Given the description of an element on the screen output the (x, y) to click on. 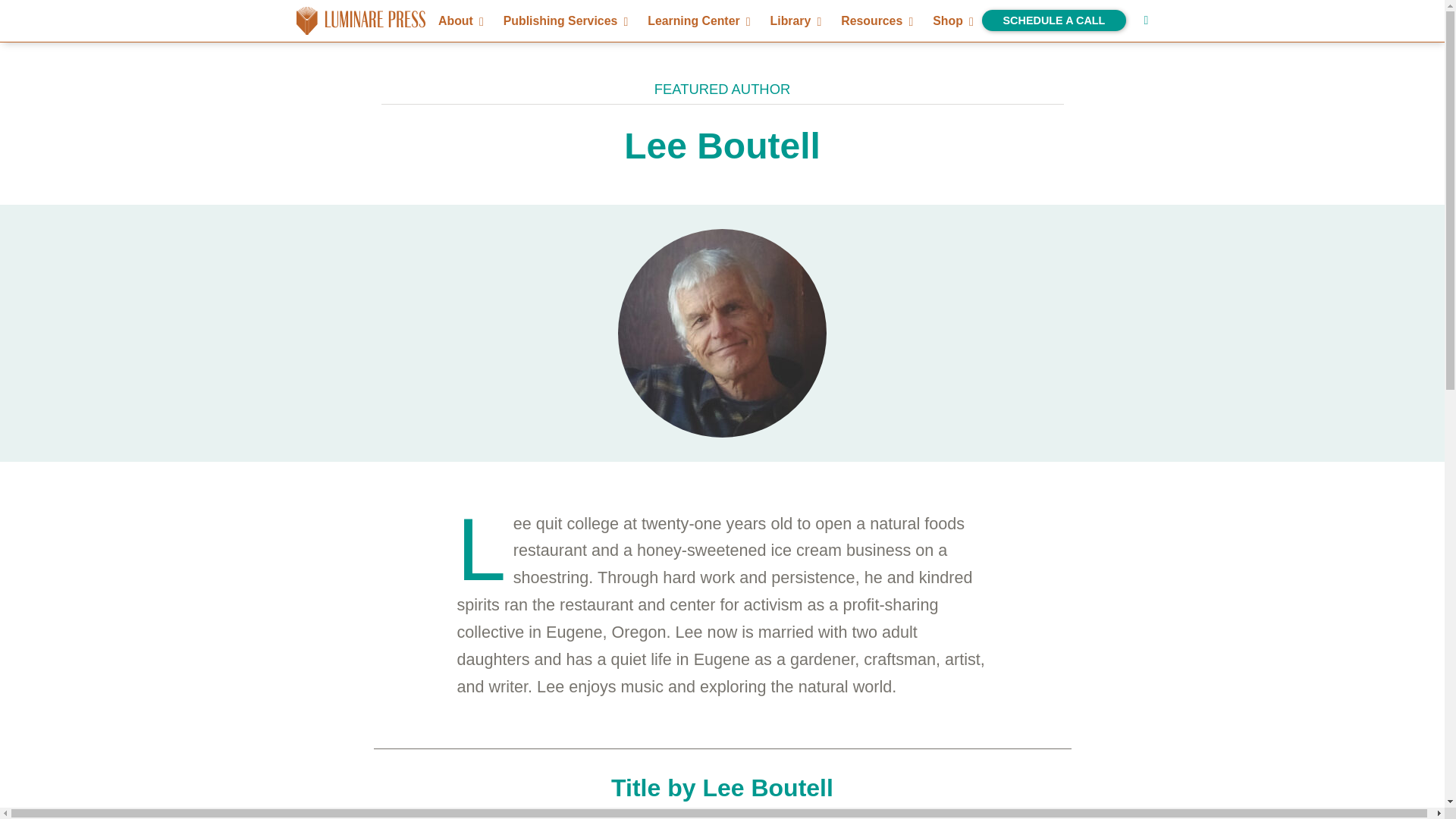
logo-lockup (361, 20)
logo-lockup (361, 30)
Library (793, 20)
Publishing Services (563, 20)
Learning Center (695, 20)
SCHEDULE A CALL (1053, 20)
About (459, 20)
Resources (874, 20)
Shop (950, 20)
